Given the description of an element on the screen output the (x, y) to click on. 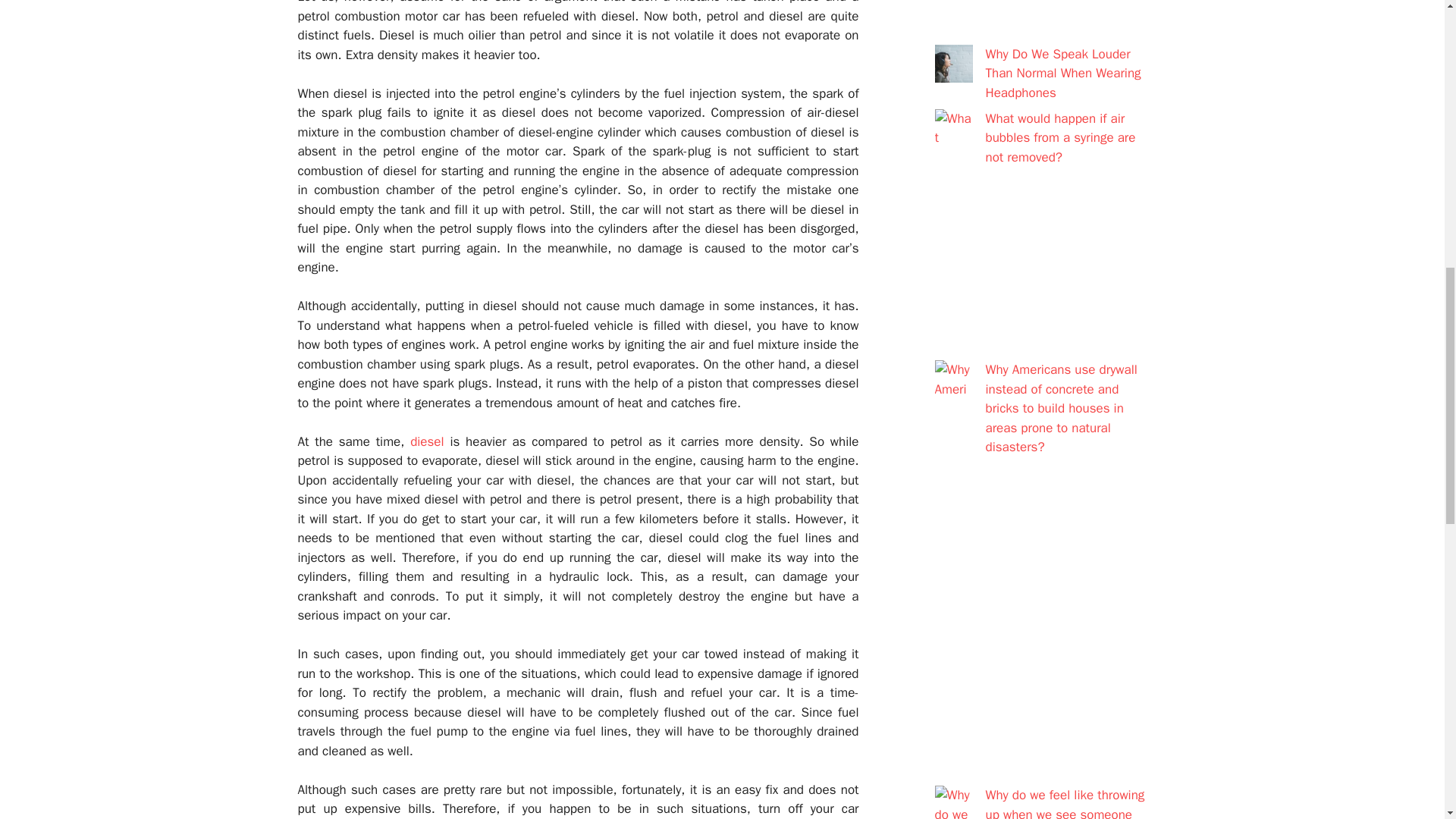
diesel (427, 441)
Why Do We Speak Louder Than Normal When Wearing Headphones (1063, 72)
